Given the description of an element on the screen output the (x, y) to click on. 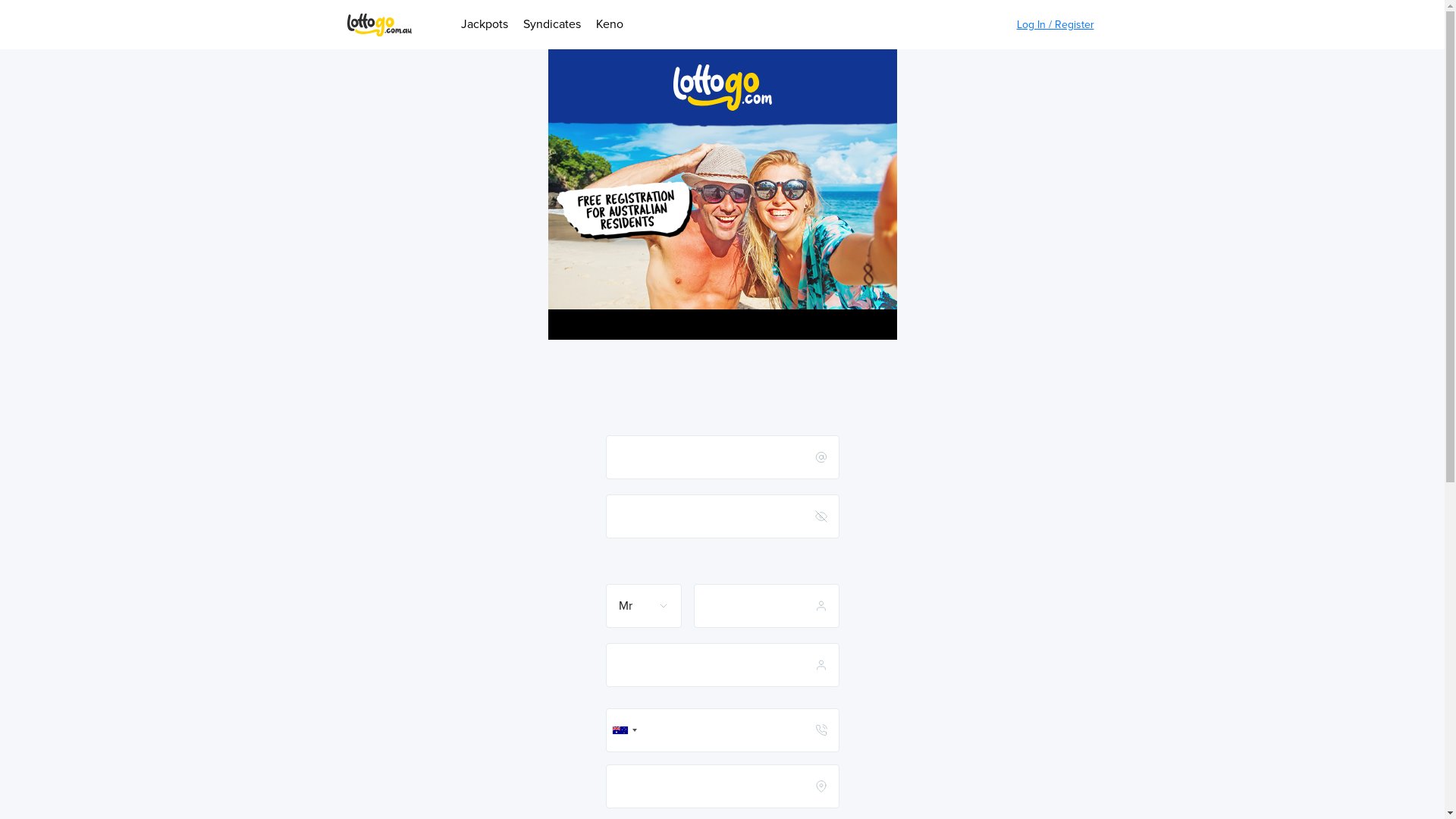
Site Logo Element type: hover (379, 24)
Log In / Register Element type: text (1054, 24)
Couples Photo Element type: hover (721, 222)
FREE REGISTRATION FROM AUSTRALIAN RESIDENTS Element type: hover (624, 210)
Keno Element type: text (609, 24)
Syndicates Element type: text (551, 24)
Site Logo Element type: hover (722, 87)
Australia: +61 Element type: hover (623, 730)
Jackpots Element type: text (484, 24)
